Given the description of an element on the screen output the (x, y) to click on. 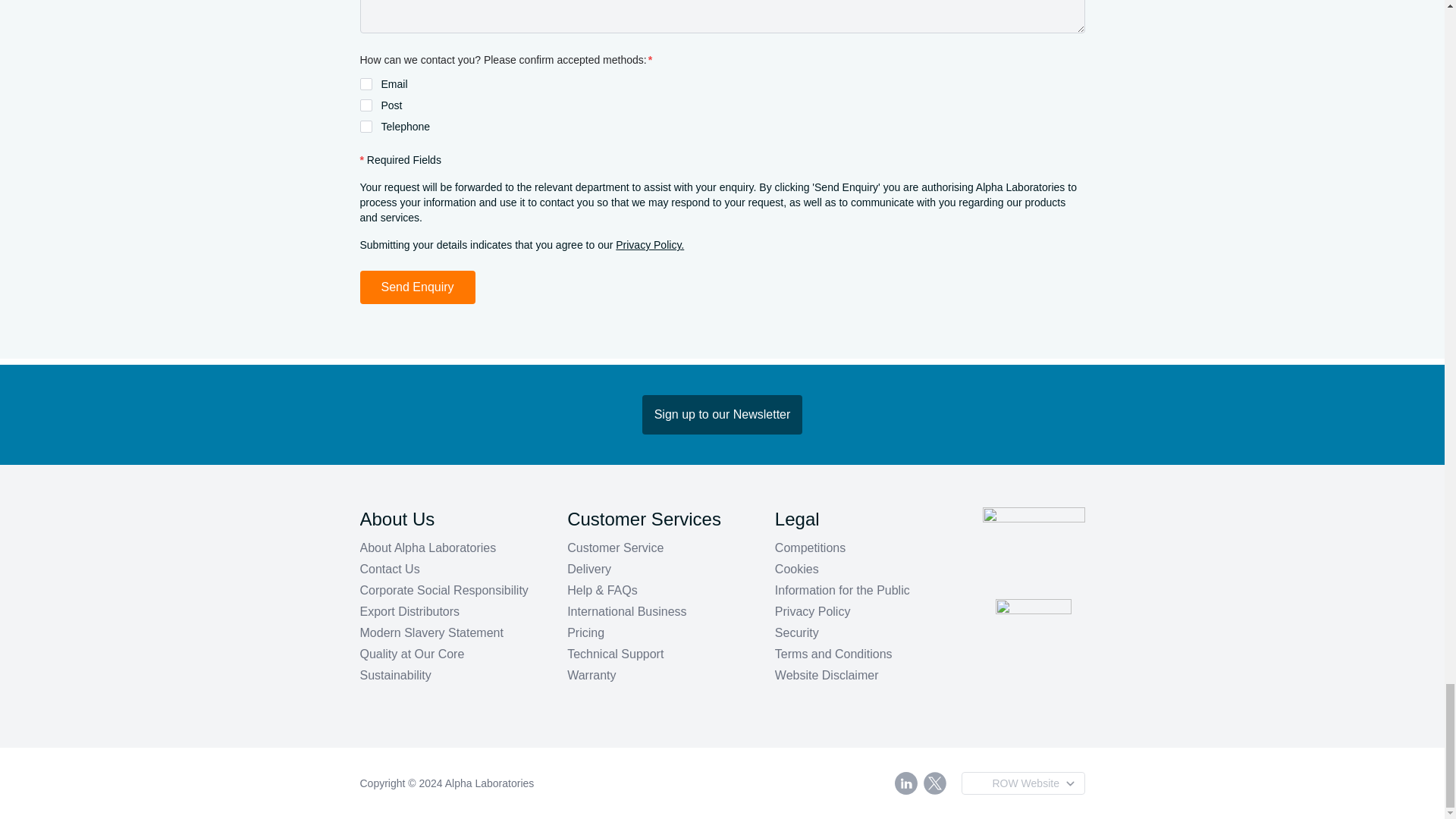
Yes (365, 126)
Yes (365, 83)
Yes (365, 105)
